Given the description of an element on the screen output the (x, y) to click on. 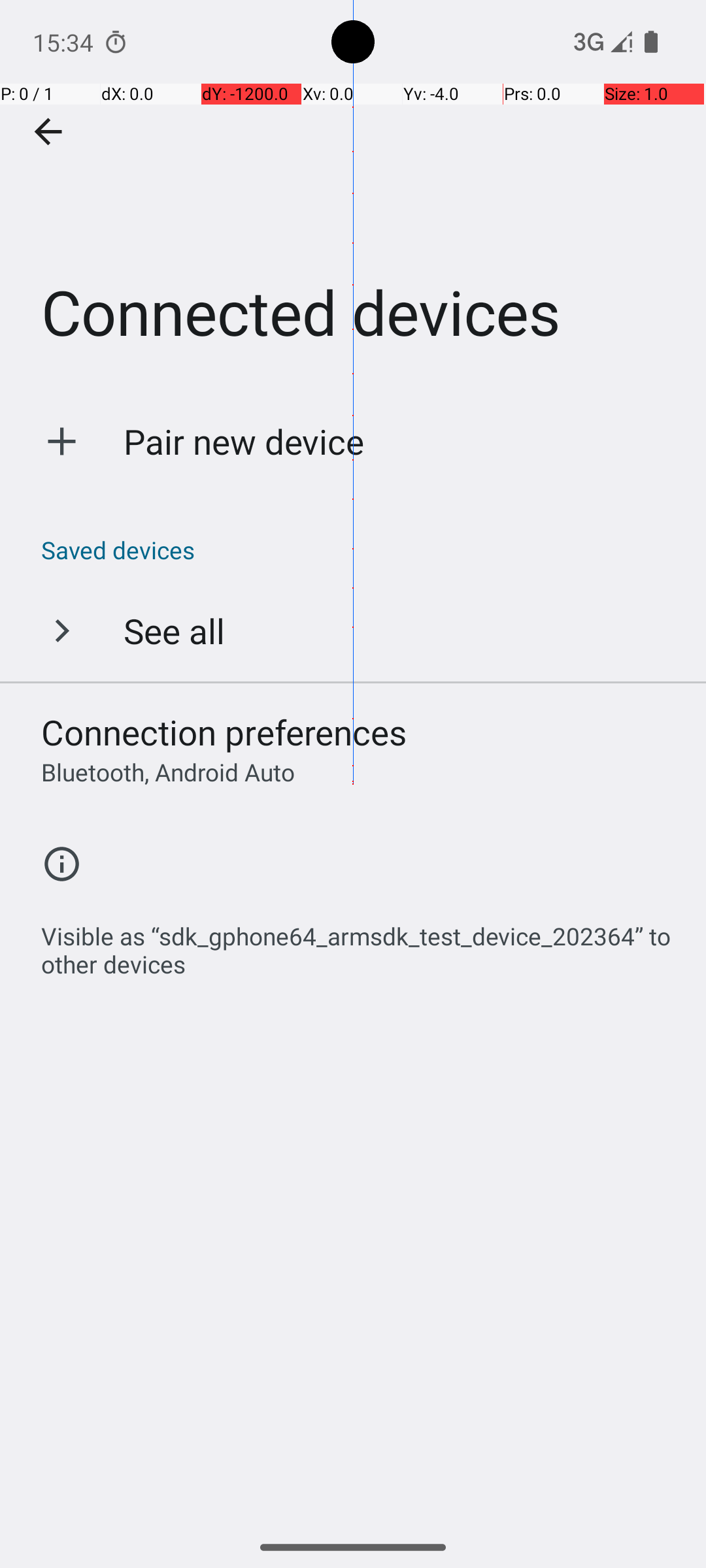
Visible as “sdk_gphone64_armsdk_test_device_202364” to other devices Element type: android.widget.TextView (359, 942)
